Given the description of an element on the screen output the (x, y) to click on. 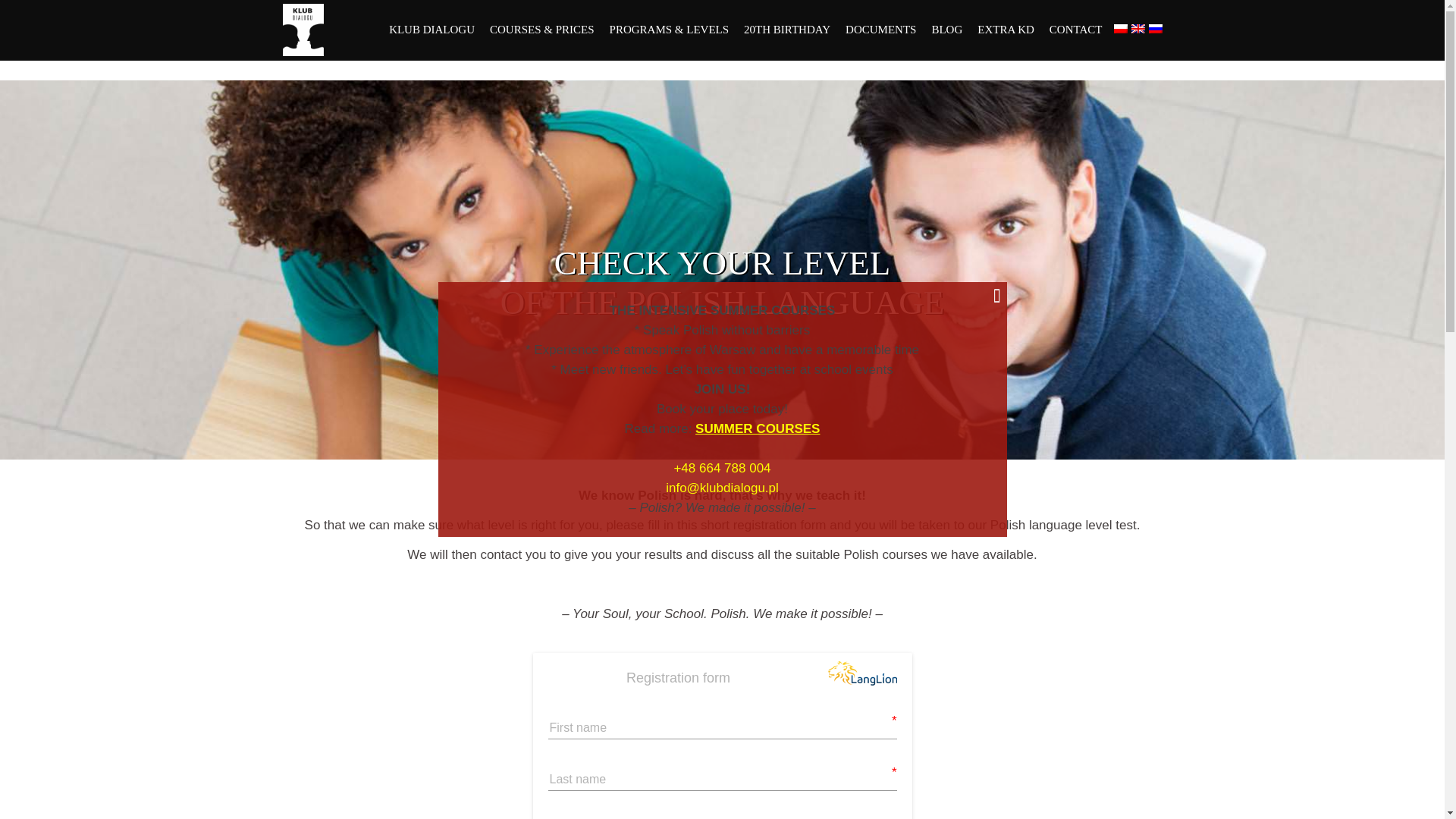
Pl (1119, 28)
BLOG (946, 29)
EXTRA KD (1004, 29)
KLUB DIALOGU (431, 29)
En (1137, 28)
20TH BIRTHDAY (786, 29)
CONTACT (1075, 29)
DOCUMENTS (880, 29)
